Given the description of an element on the screen output the (x, y) to click on. 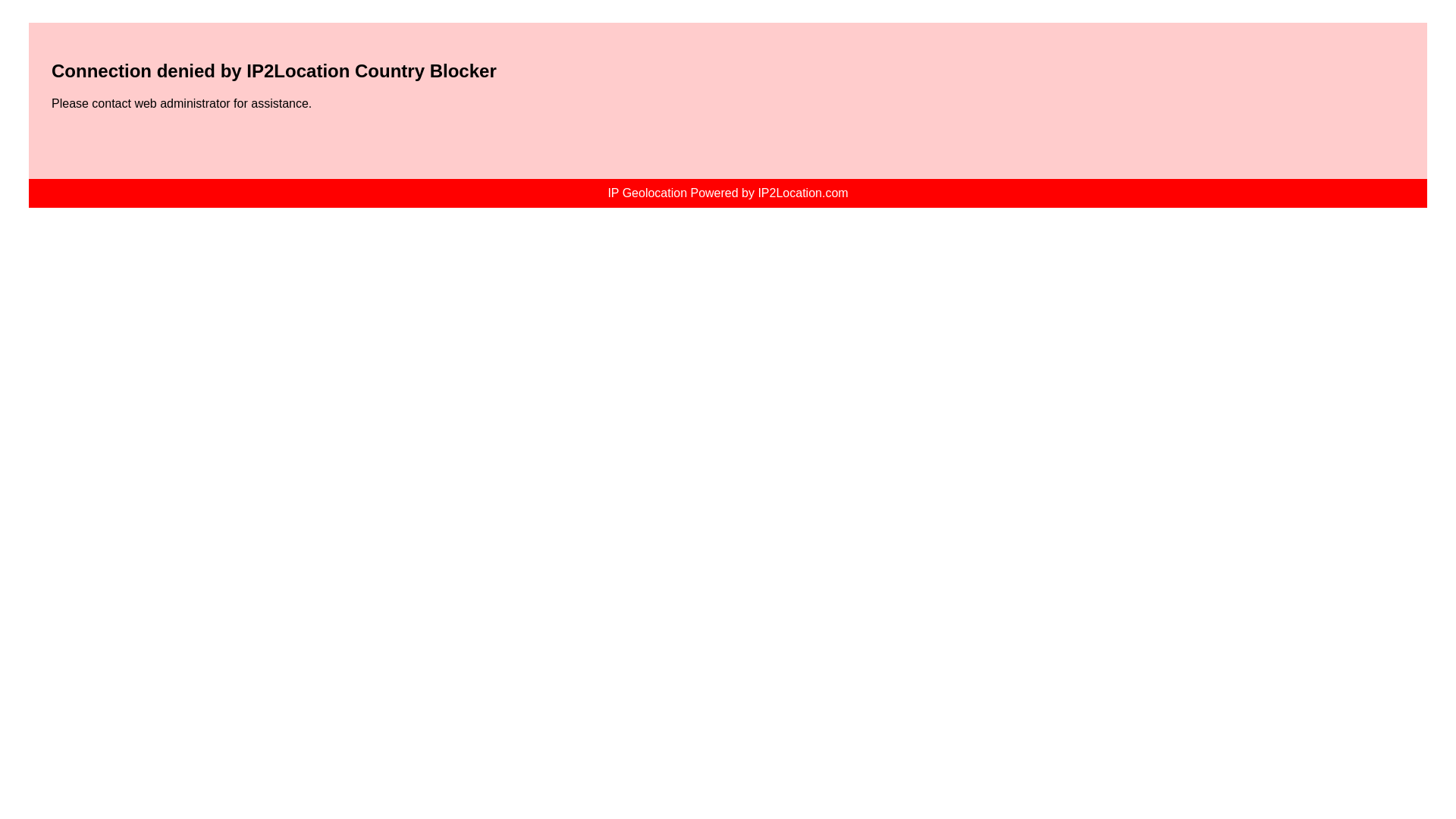
IP Geolocation Powered by IP2Location.com (727, 192)
